Given the description of an element on the screen output the (x, y) to click on. 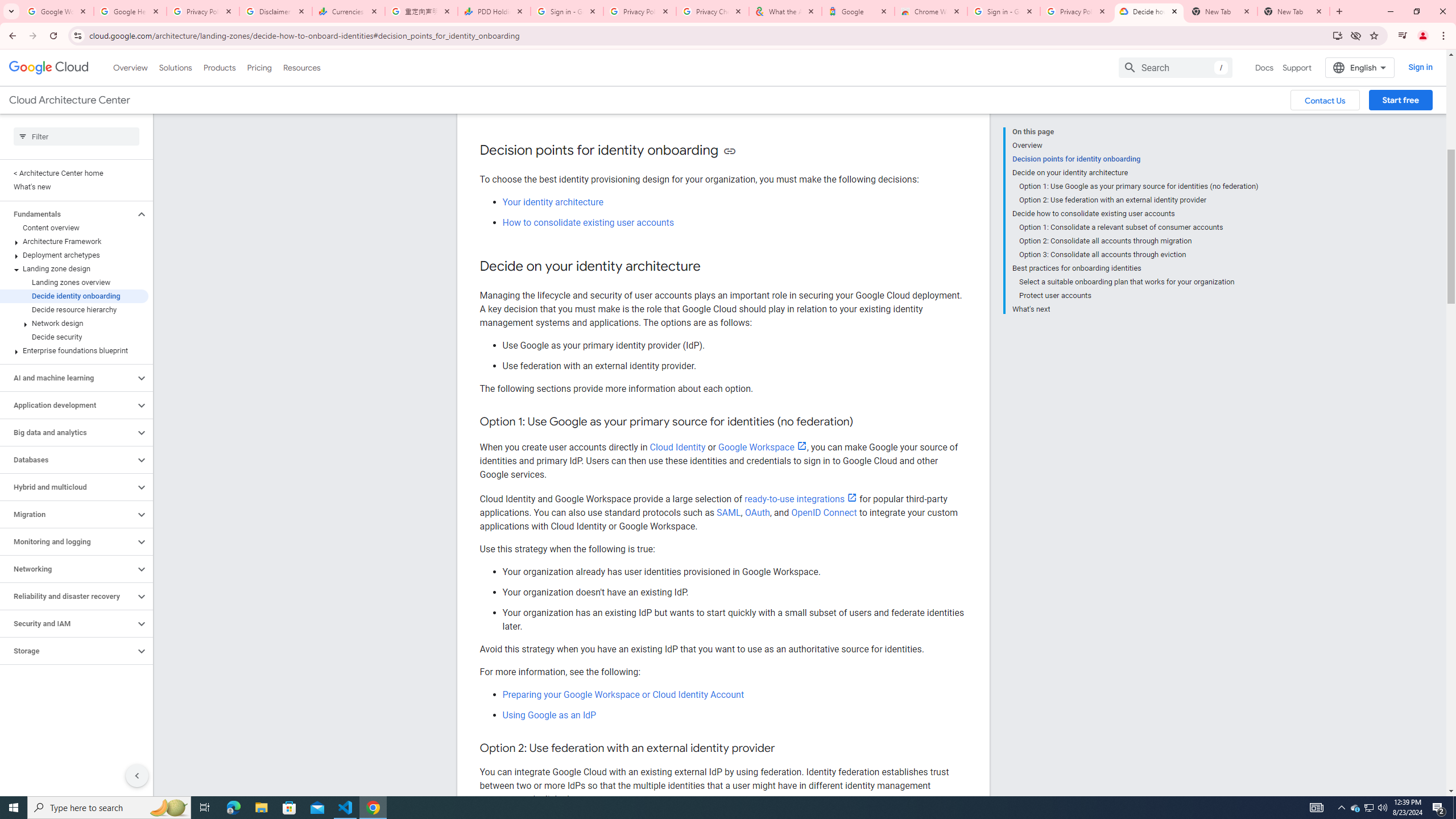
Networking (67, 568)
Cloud Architecture Center (68, 100)
Resources (301, 67)
Solutions (175, 67)
Security and IAM (67, 623)
Using Google as an IdP (549, 715)
ready-to-use integrations (800, 498)
Privacy Checkup (712, 11)
